Given the description of an element on the screen output the (x, y) to click on. 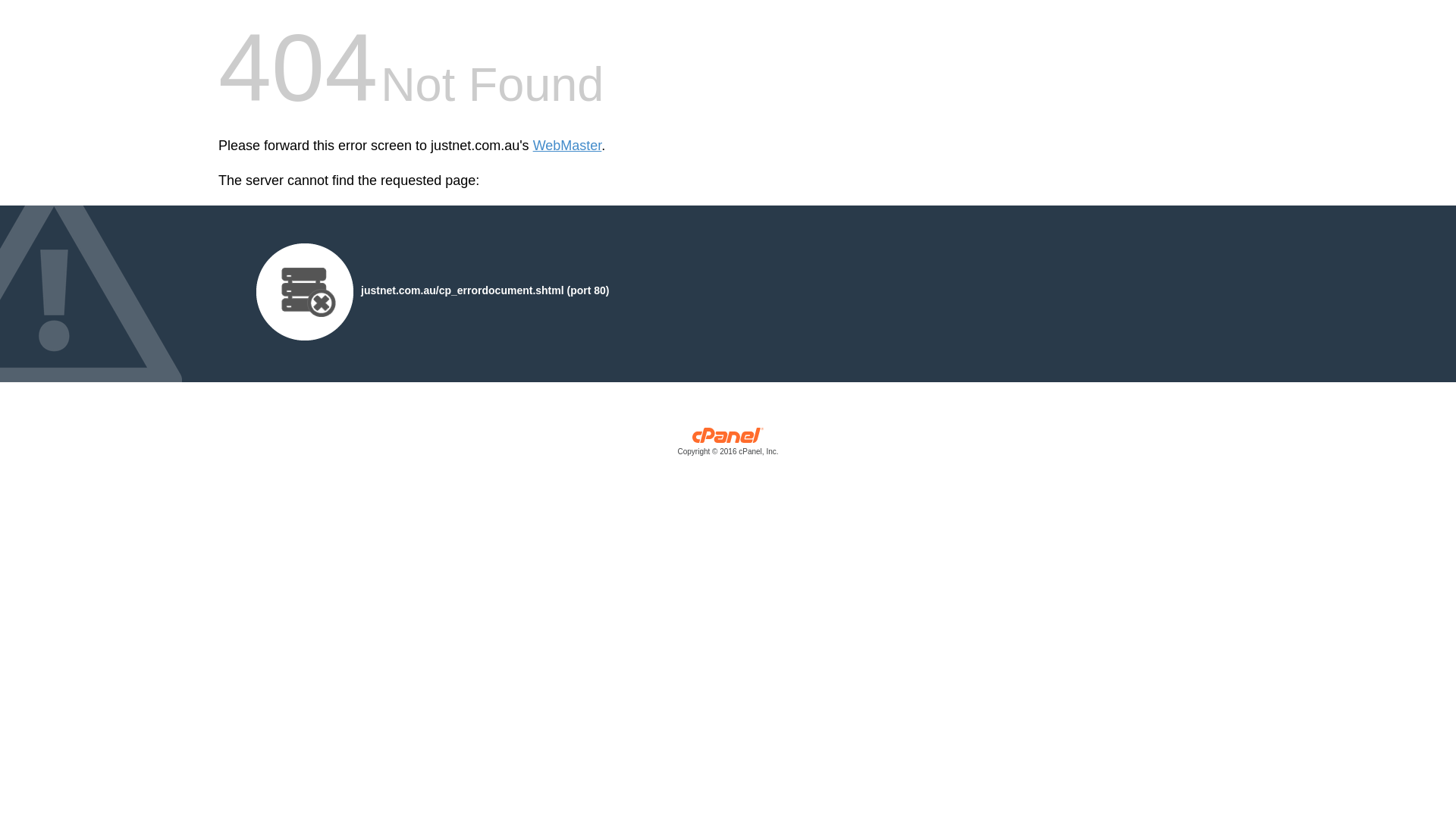
WebMaster Element type: text (567, 145)
